Given the description of an element on the screen output the (x, y) to click on. 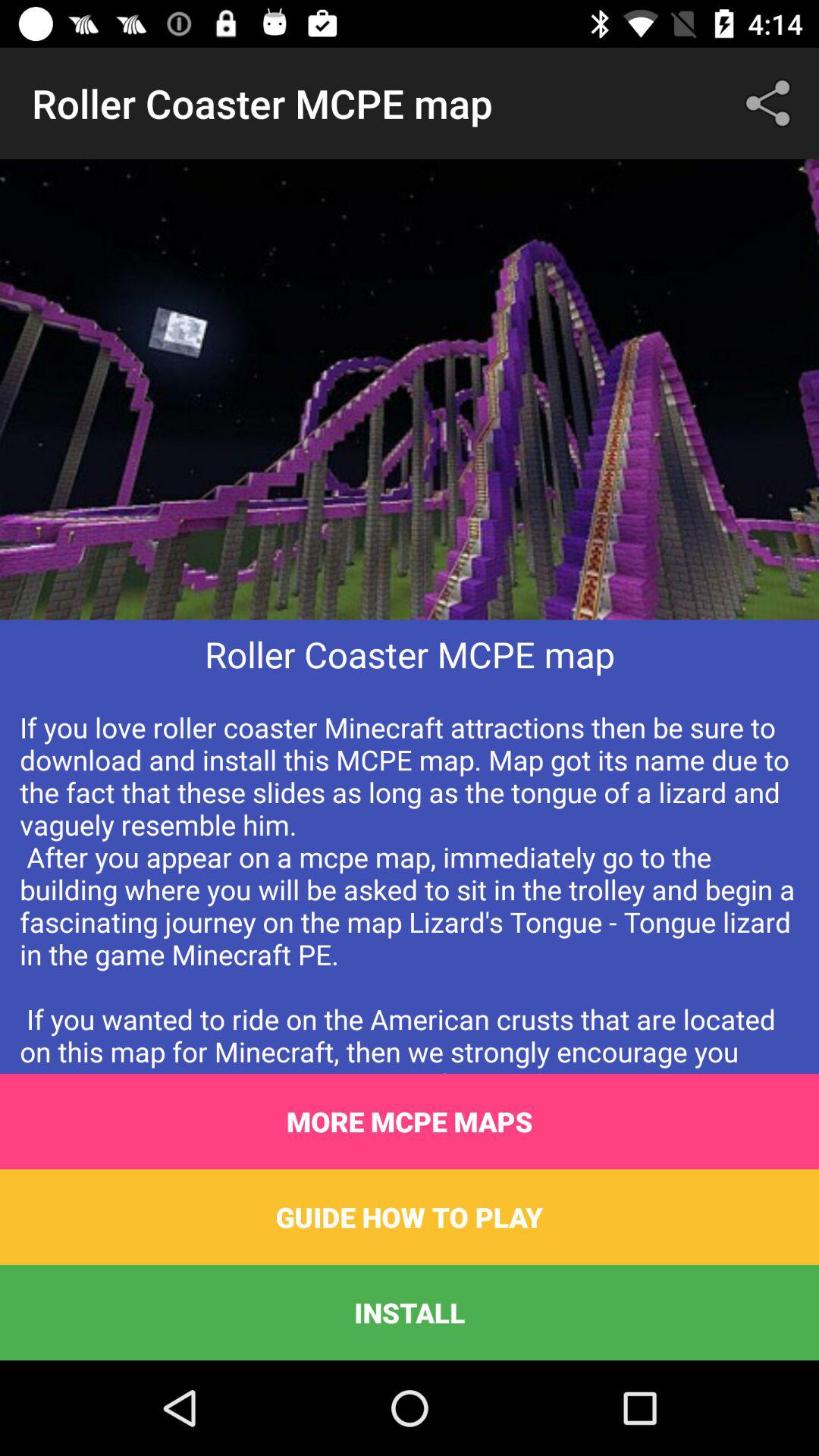
turn off the icon next to the roller coaster mcpe item (771, 103)
